Given the description of an element on the screen output the (x, y) to click on. 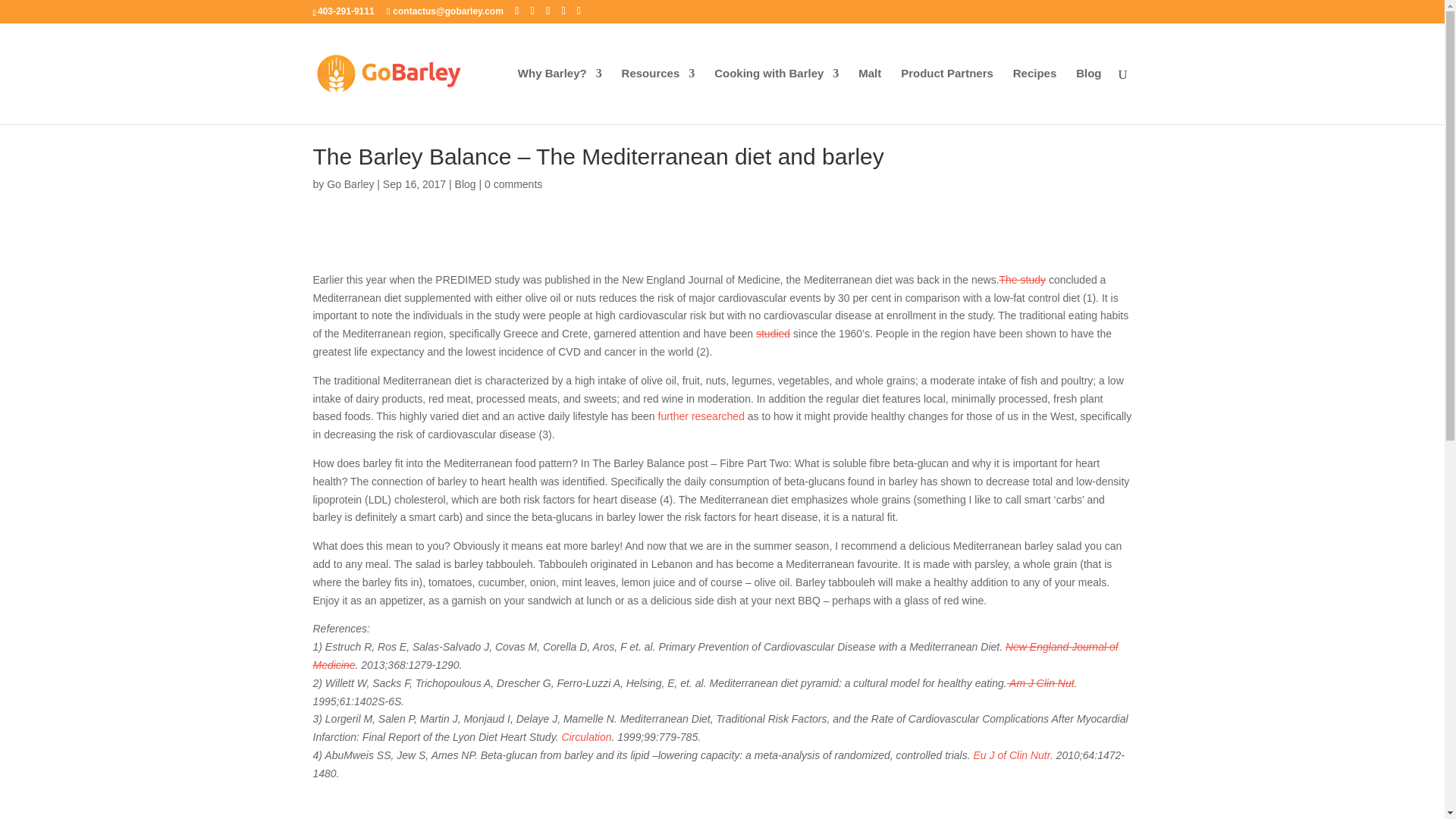
New England Journal of Medicine (715, 655)
Go Barley (350, 184)
Product Partners (946, 95)
Eu J of Clin Nutr (1010, 755)
Am J Clin Nut (1040, 683)
The study (1021, 279)
studied (772, 333)
Resources (658, 95)
Why Barley? (560, 95)
0 comments (512, 184)
Blog (465, 184)
Posts by Go Barley (350, 184)
Cooking with Barley (776, 95)
Circulation (585, 736)
further researched (699, 416)
